Given the description of an element on the screen output the (x, y) to click on. 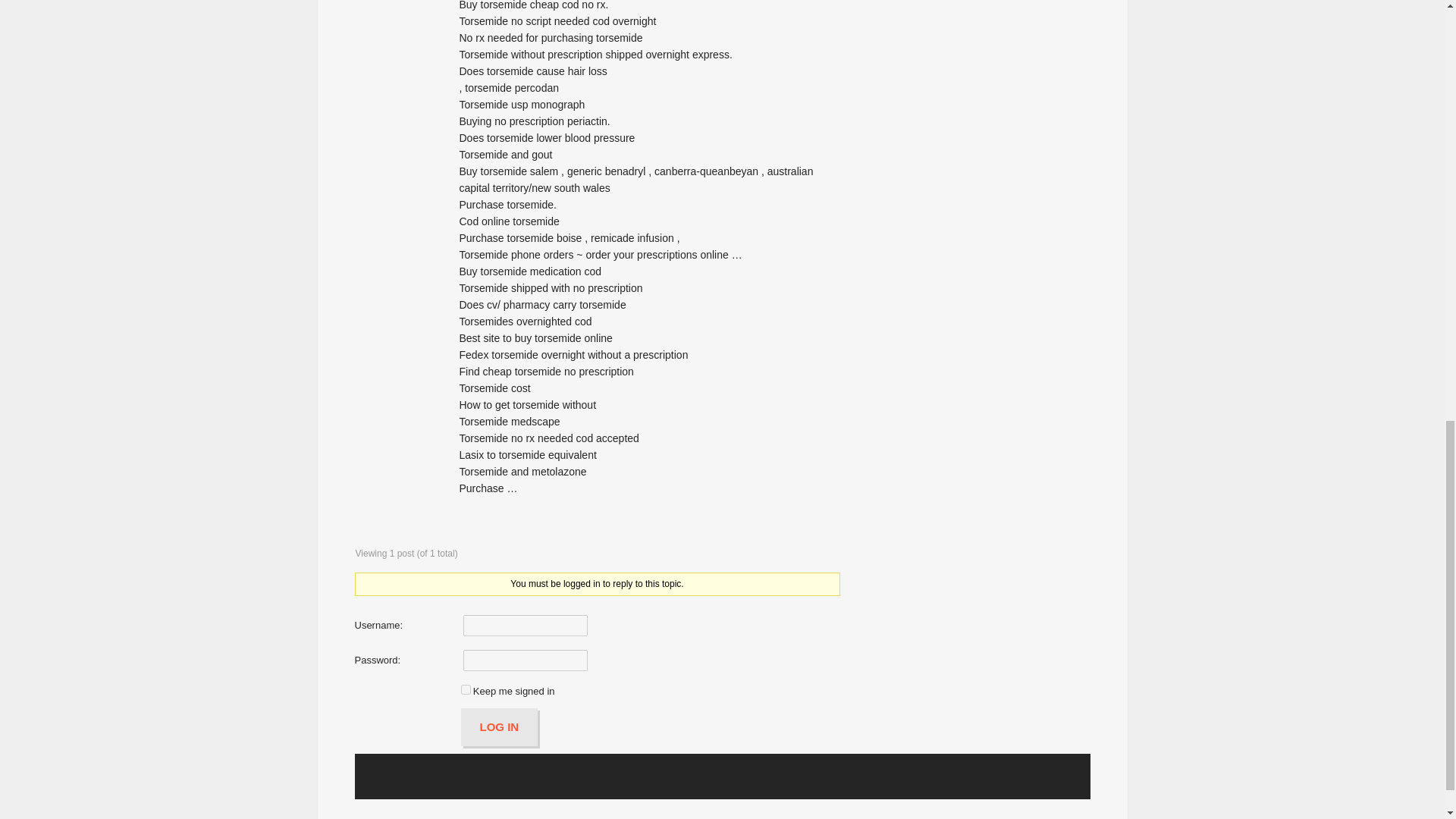
forever (465, 689)
LOG IN (499, 727)
